Given the description of an element on the screen output the (x, y) to click on. 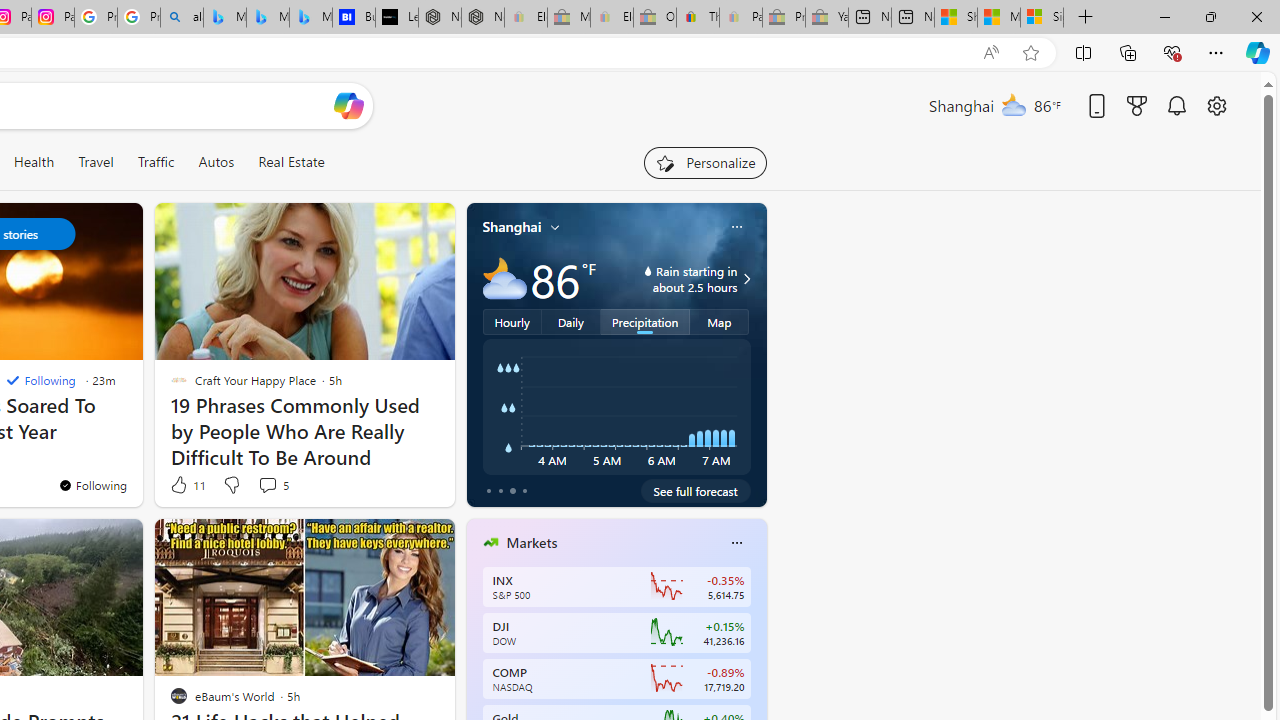
Yard, Garden & Outdoor Living - Sleeping (827, 17)
Payments Terms of Use | eBay.com - Sleeping (740, 17)
Daily (571, 321)
next (756, 670)
See full forecast (695, 490)
